Given the description of an element on the screen output the (x, y) to click on. 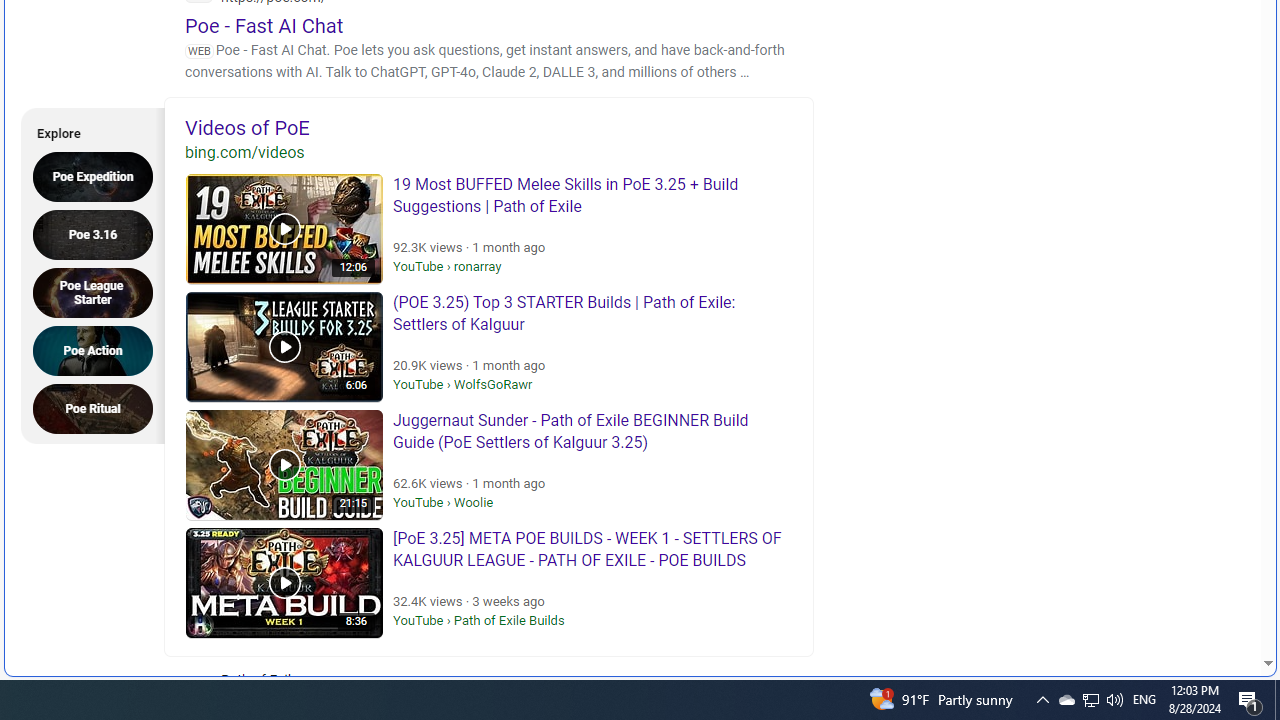
Videos of PoE (489, 127)
Search more (1222, 604)
Poe 3.16 (99, 233)
Poe Action (99, 349)
Poe - Fast AI Chat (264, 25)
Poe Ritual (99, 408)
AutomationID: mfa_root (1192, 603)
Poe League Starter (99, 292)
Explore (86, 130)
